Given the description of an element on the screen output the (x, y) to click on. 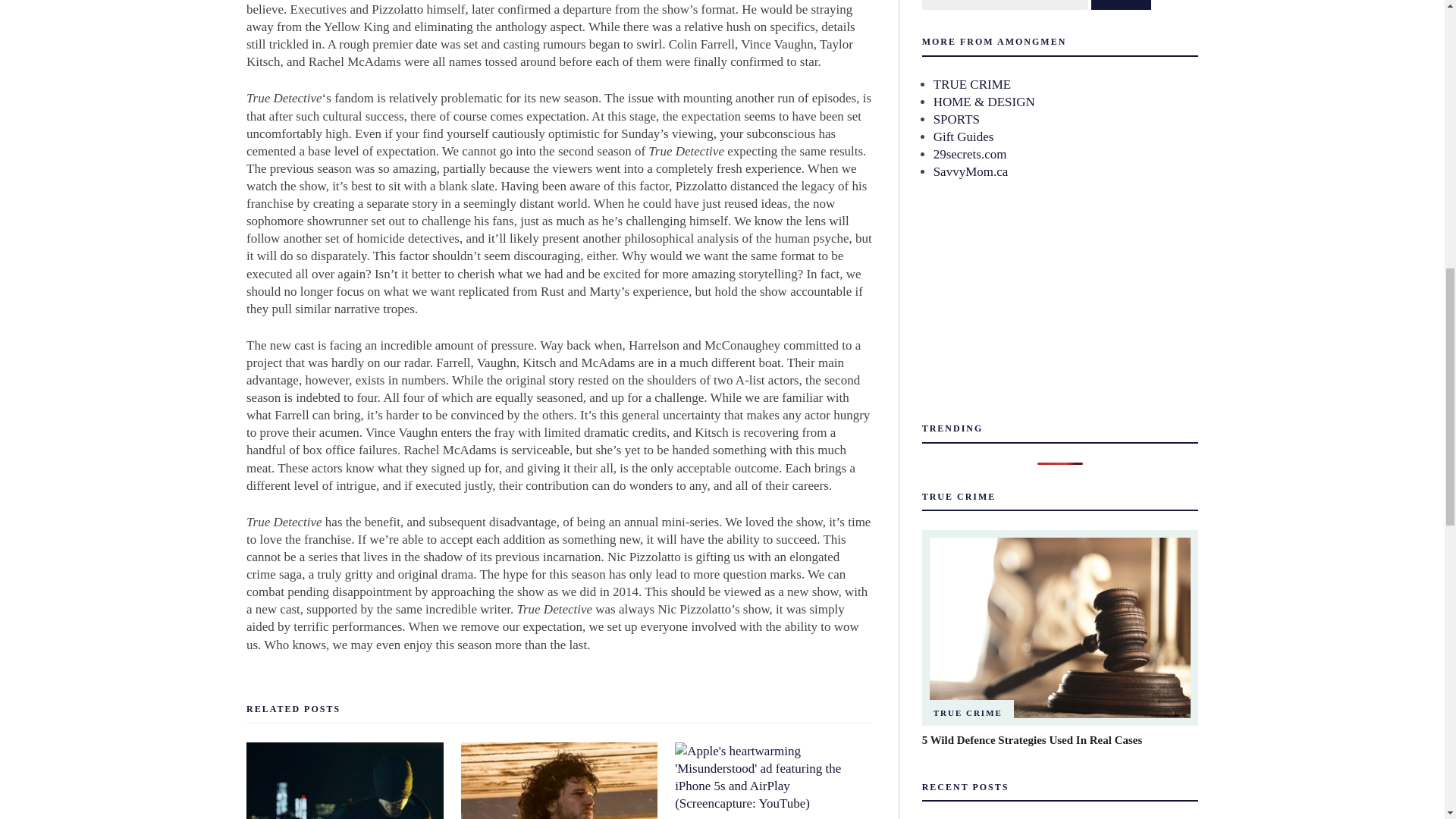
TRUE CRIME (971, 83)
Search (1120, 4)
Search (1120, 4)
Search (1120, 4)
